Given the description of an element on the screen output the (x, y) to click on. 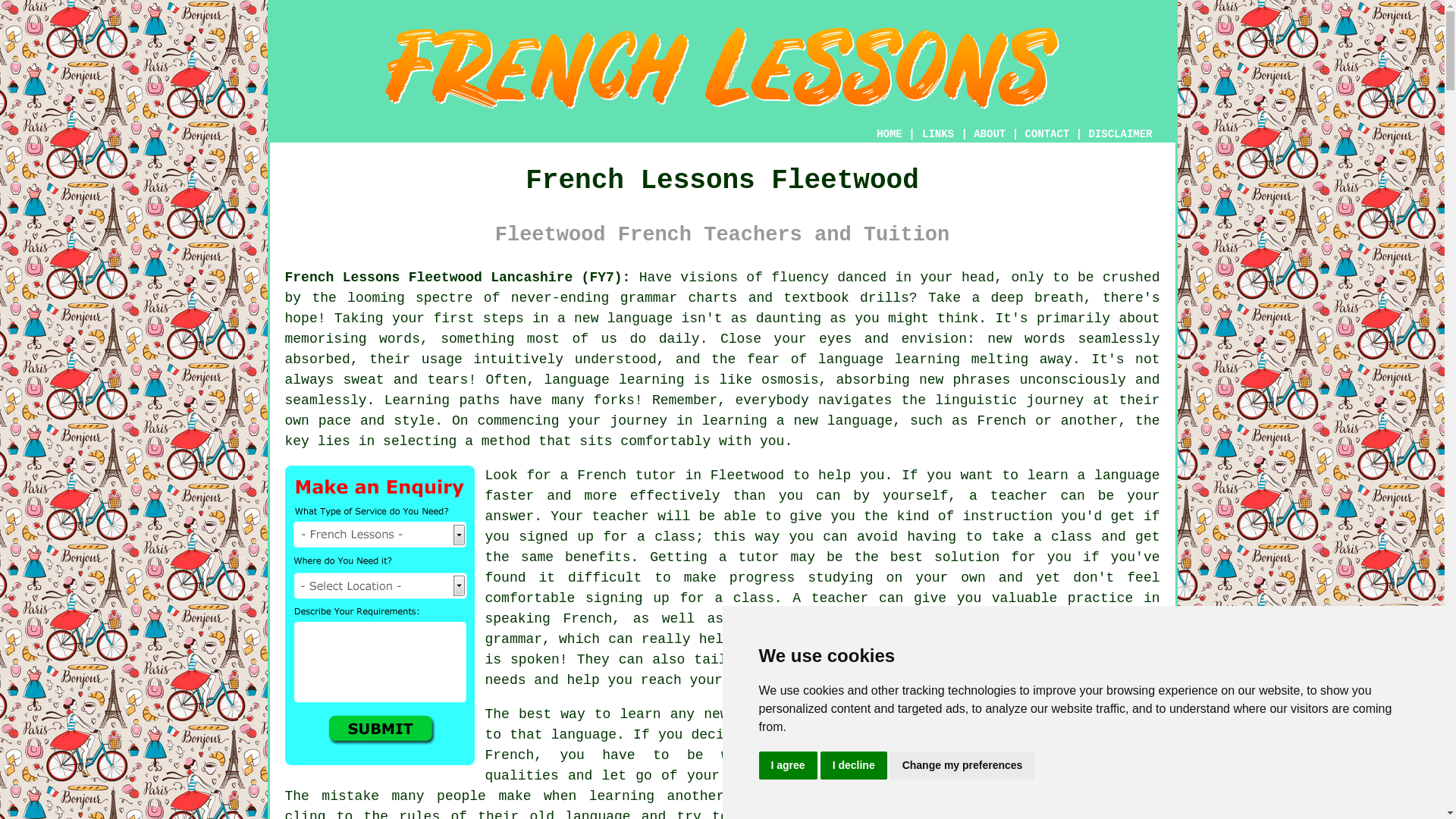
Change my preferences (962, 765)
HOME (889, 133)
language (770, 713)
French (1001, 420)
I agree (787, 765)
I decline (853, 765)
LINKS (938, 133)
French Lessons Fleetwood (721, 68)
